Given the description of an element on the screen output the (x, y) to click on. 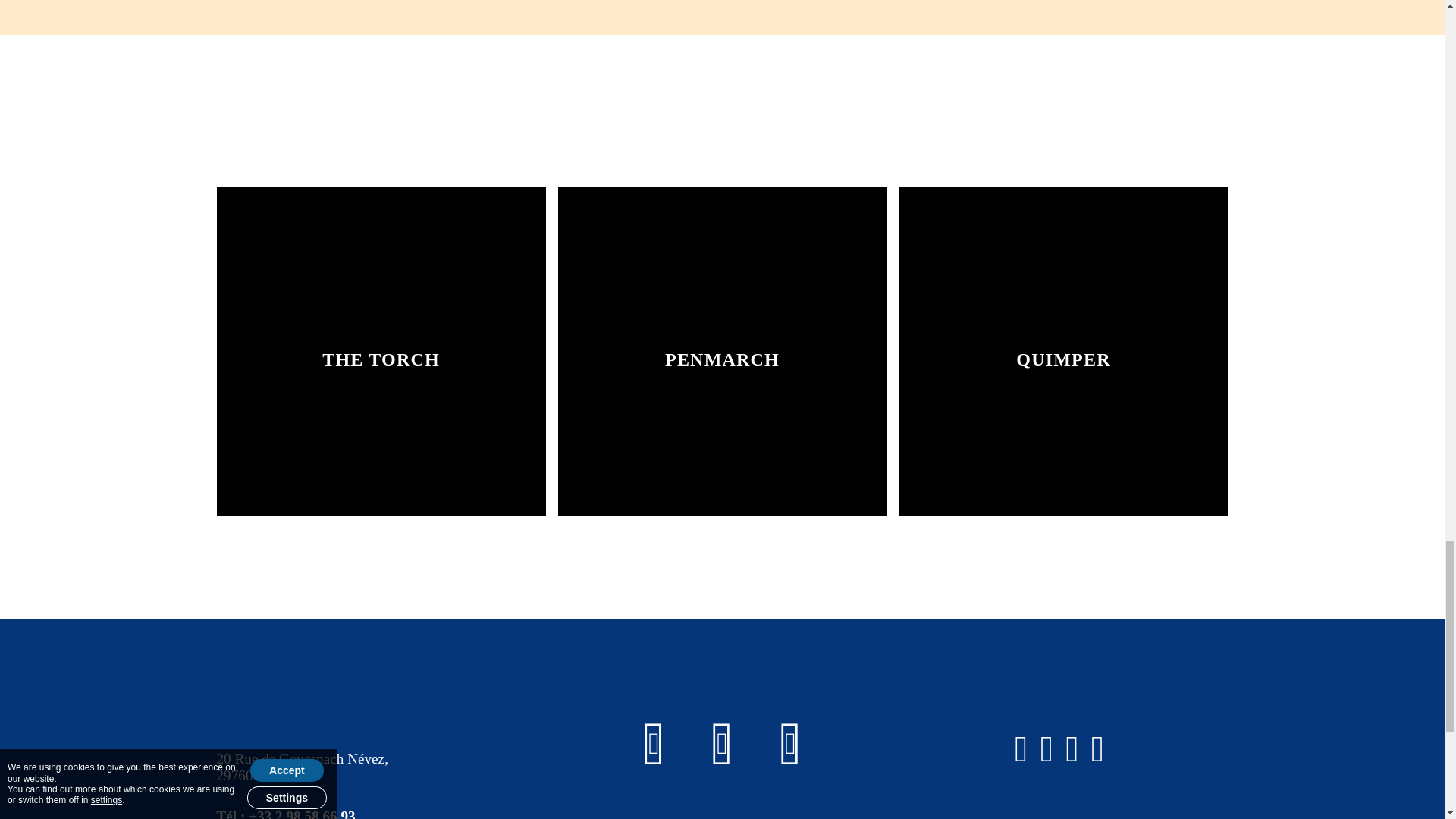
Retrouvez-nous sur facebook (653, 743)
Retrouvez-nous sur instagram (722, 743)
Retrouvez-nous sur tiktok (790, 743)
